Given the description of an element on the screen output the (x, y) to click on. 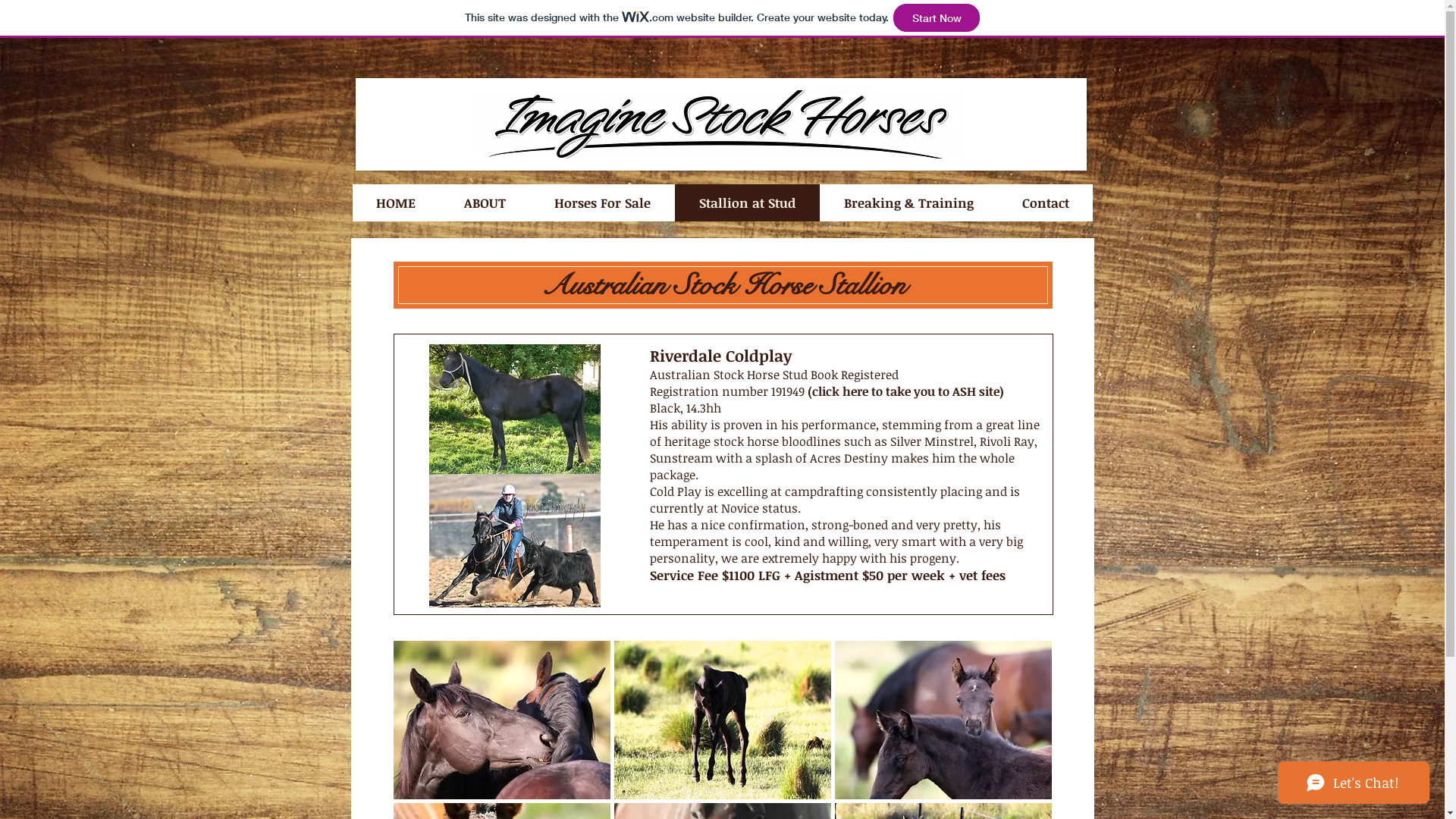
Horses For Sale Element type: text (601, 202)
Contact Element type: text (1044, 202)
Stallion at Stud Element type: text (746, 202)
ABOUT Element type: text (484, 202)
HOME Element type: text (395, 202)
Breaking & Training Element type: text (908, 202)
191949 (click here to take you to ASH site) Element type: text (886, 390)
